Given the description of an element on the screen output the (x, y) to click on. 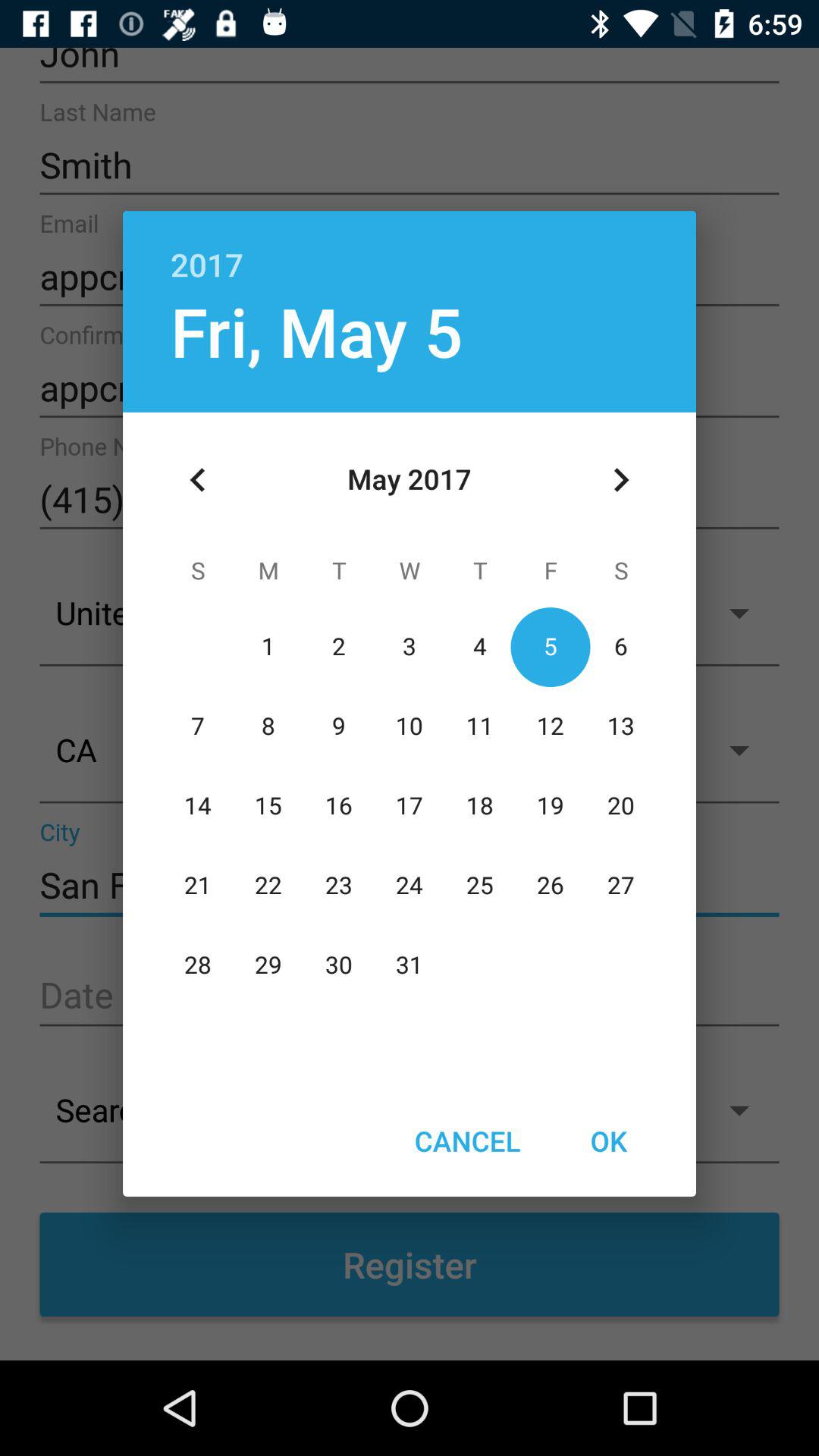
press the item at the bottom (467, 1140)
